Given the description of an element on the screen output the (x, y) to click on. 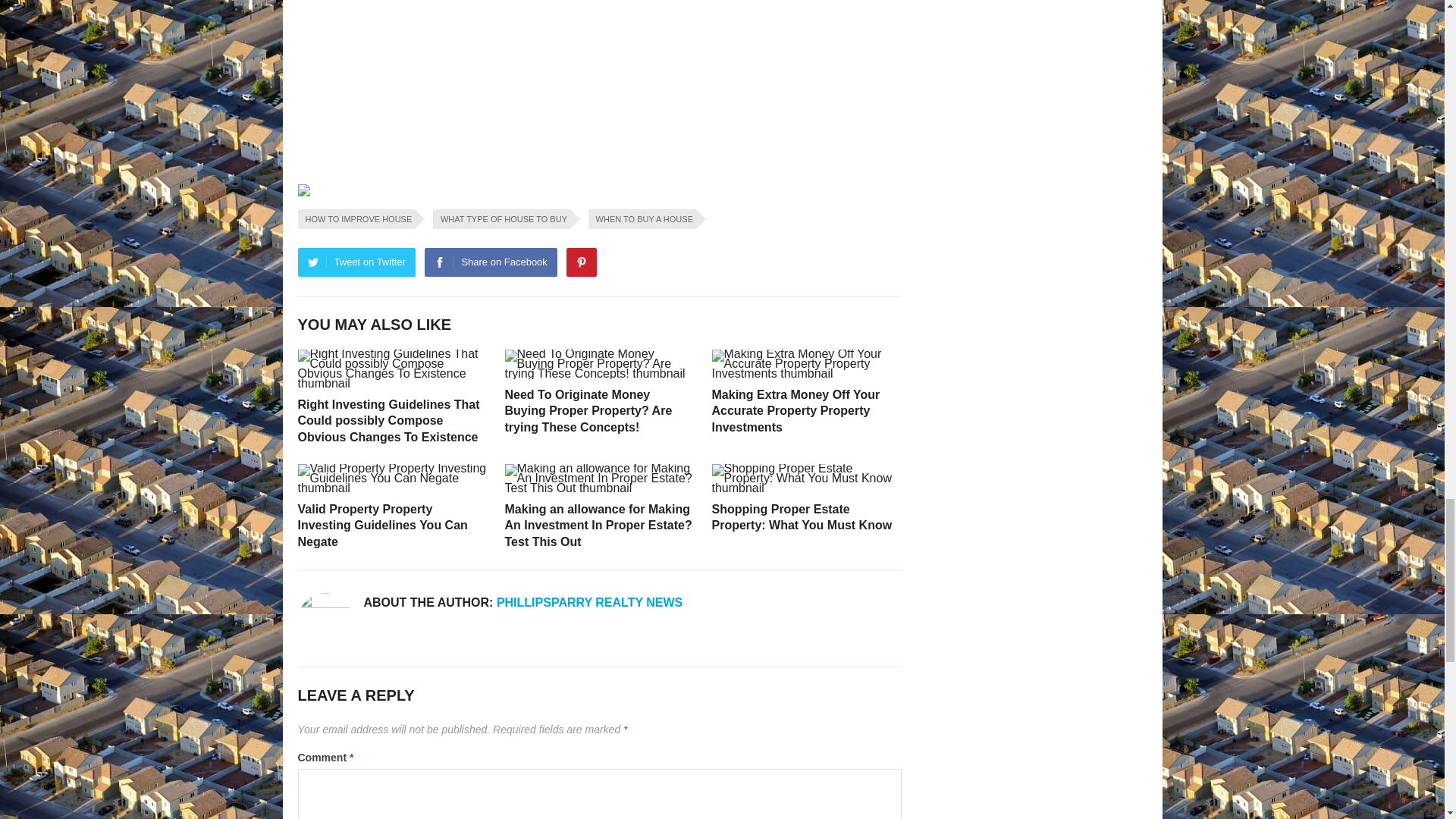
WHAT TYPE OF HOUSE TO BUY (501, 219)
Tweet on Twitter (355, 262)
Share on Facebook (490, 262)
WHEN TO BUY A HOUSE (641, 219)
HOW TO IMPROVE HOUSE (355, 219)
Pinterest (581, 262)
